Given the description of an element on the screen output the (x, y) to click on. 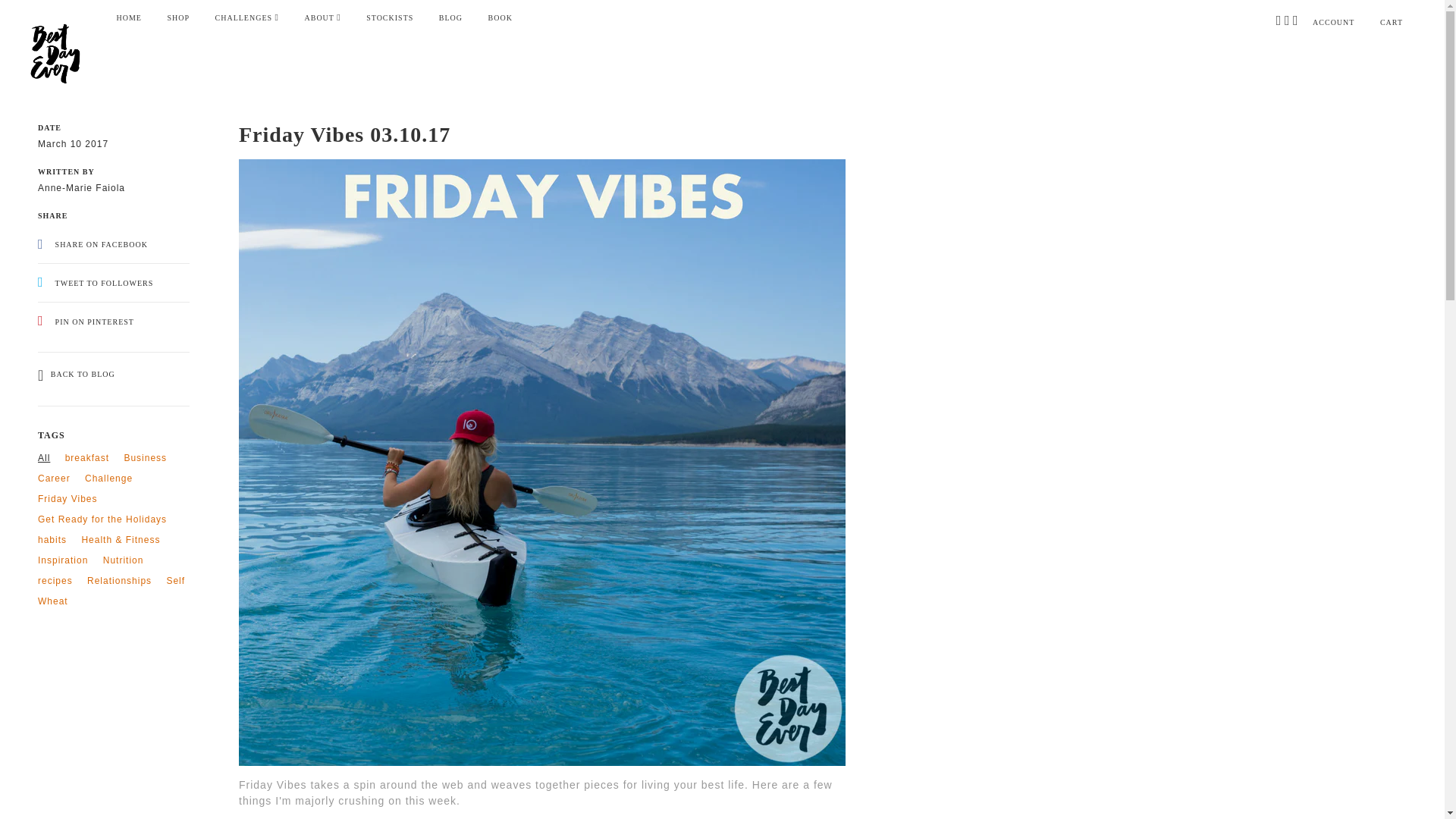
Narrow search to articles also having tag Business (145, 457)
CART (1391, 22)
Narrow search to articles also having tag habits (51, 539)
ACCOUNT (1333, 22)
Narrow search to articles also having tag breakfast (87, 457)
Narrow search to articles also having tag Career (53, 478)
Narrow search to articles also having tag Relationships (119, 580)
STOCKISTS (389, 17)
ABOUT (322, 17)
BLOG (451, 17)
SHOP (178, 17)
Narrow search to articles also having tag Inspiration (62, 560)
Narrow search to articles also having tag Nutrition (123, 560)
Best Day Ever (52, 52)
